Given the description of an element on the screen output the (x, y) to click on. 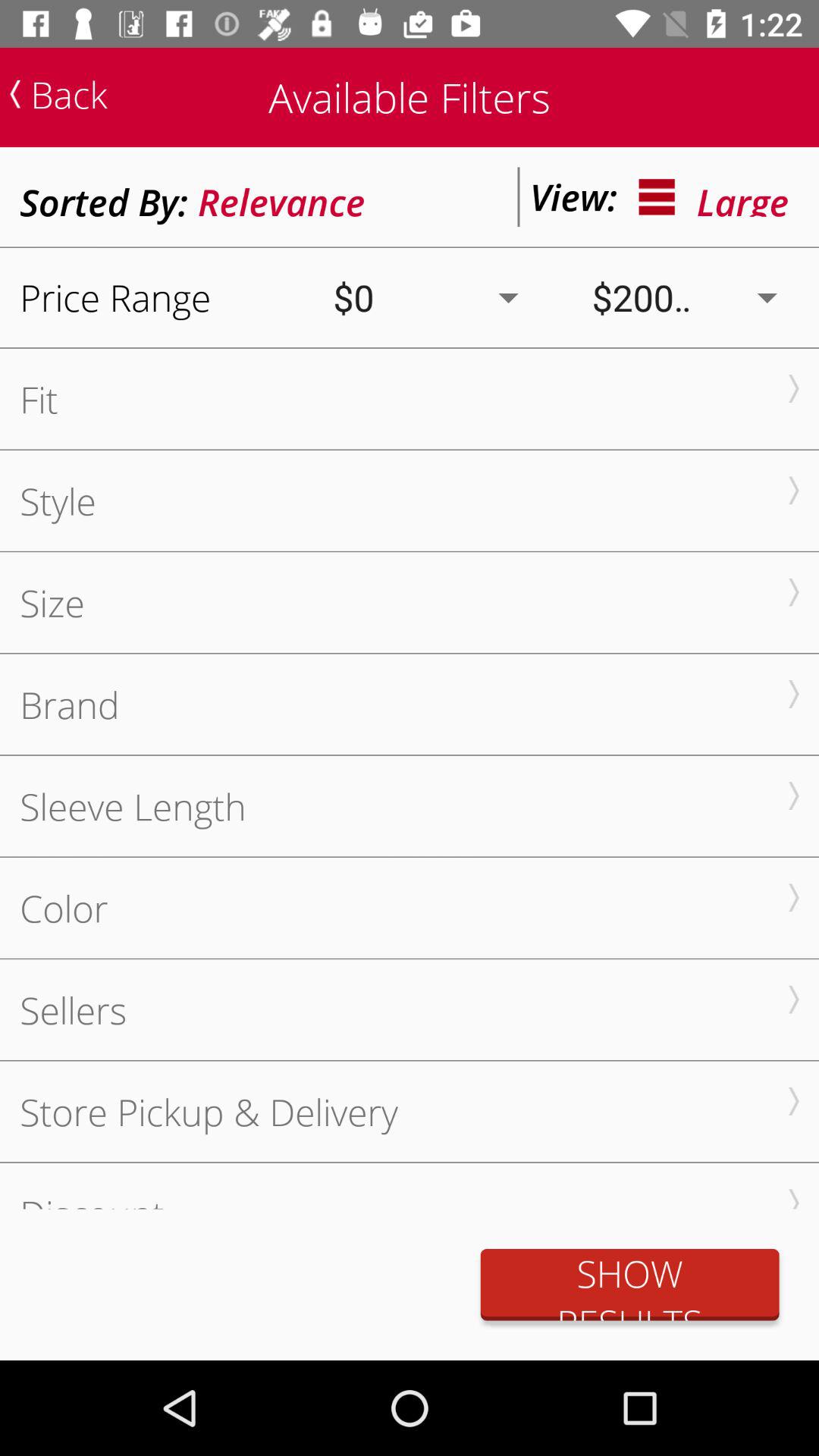
select back item (58, 93)
